Given the description of an element on the screen output the (x, y) to click on. 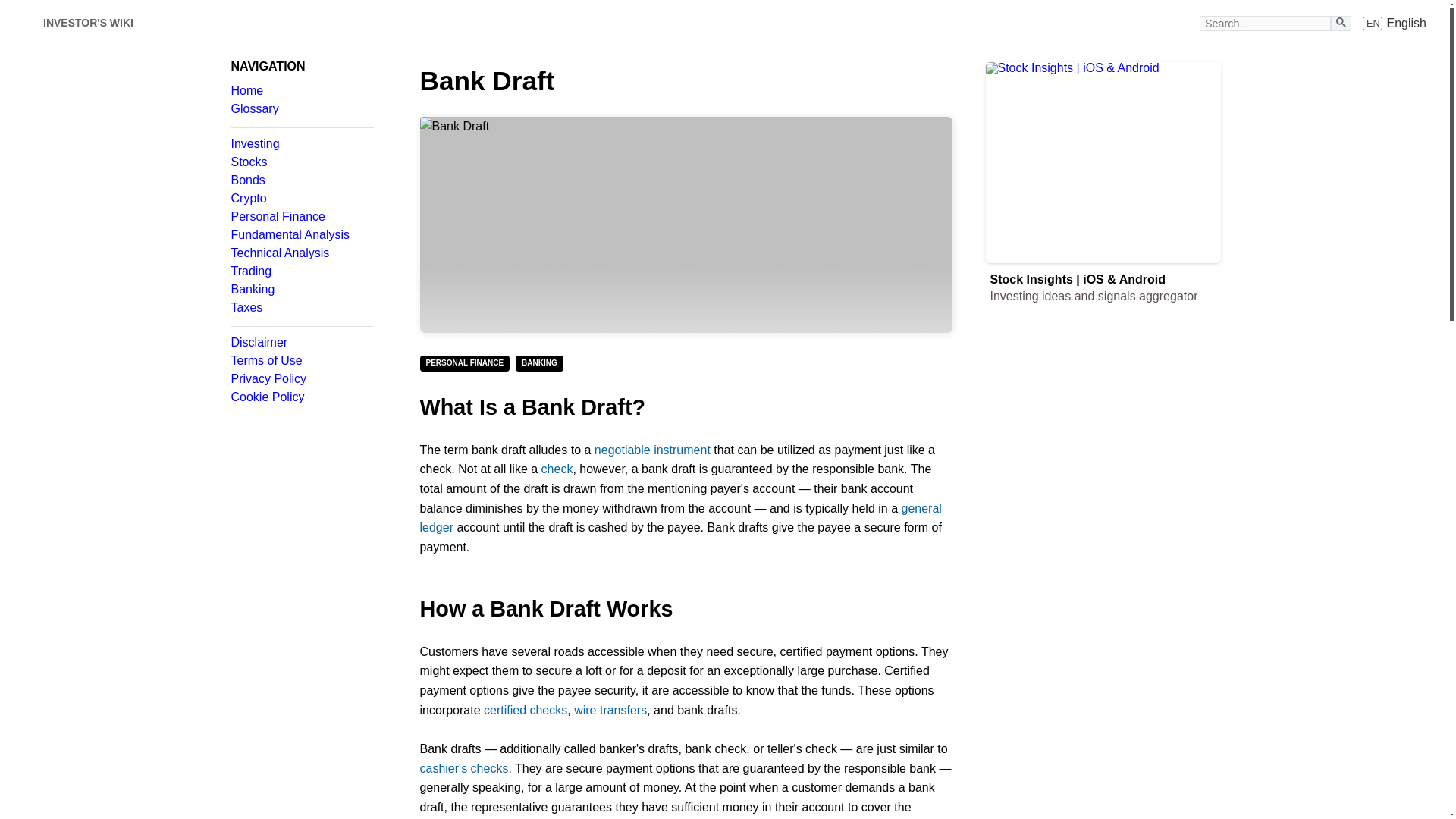
Terms of Use (301, 360)
Taxes (301, 307)
Fundamental Analysis (301, 234)
Investing (1394, 23)
Stocks (301, 143)
Personal Finance (301, 162)
Bank Draft (301, 216)
Privacy Policy (686, 224)
INVESTOR'S WIKI (301, 378)
Glossary (88, 23)
Search (301, 109)
Bonds (1340, 23)
Trading (301, 180)
Crypto (301, 271)
